Given the description of an element on the screen output the (x, y) to click on. 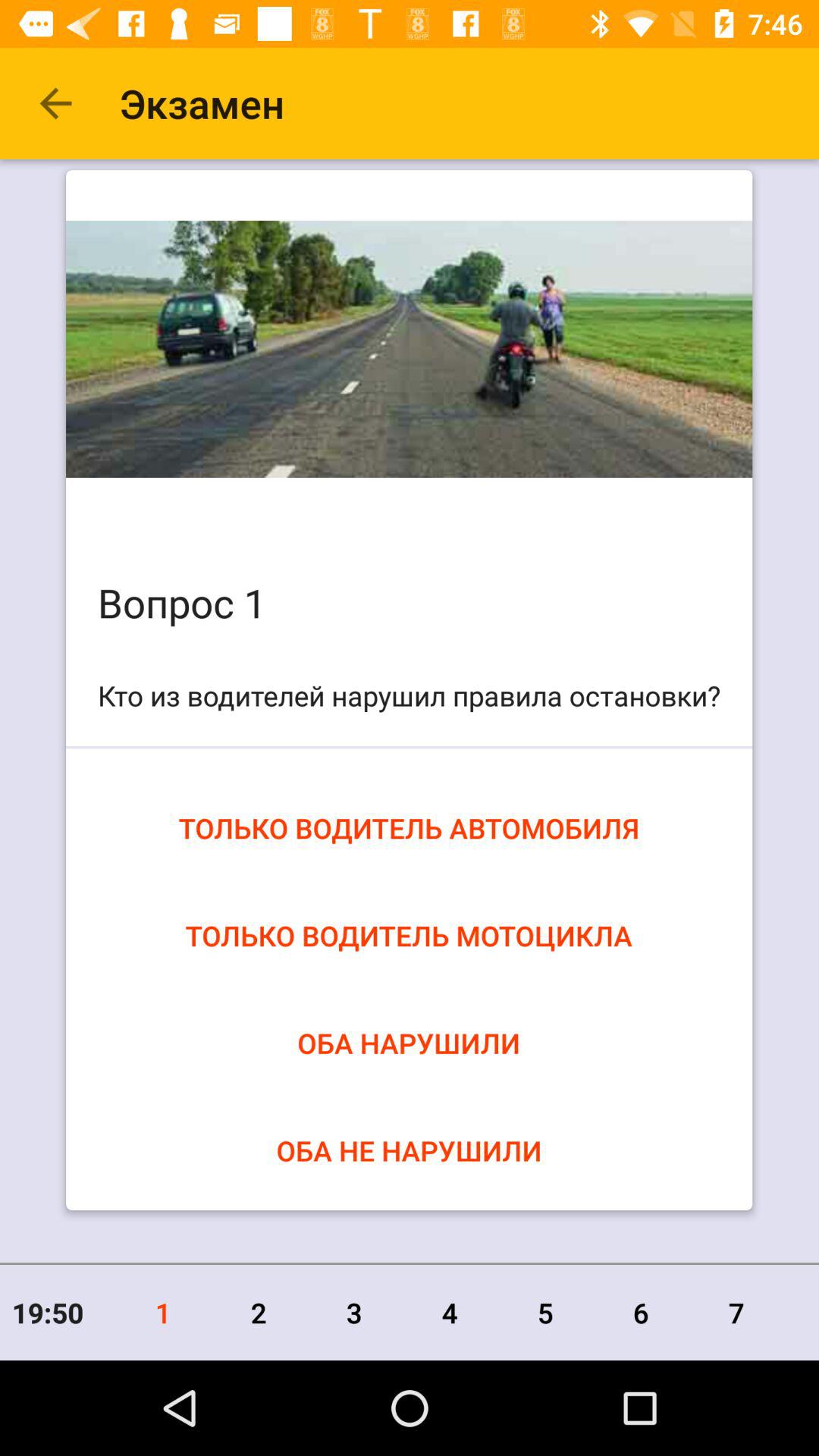
tap the item next to 3 icon (258, 1312)
